Given the description of an element on the screen output the (x, y) to click on. 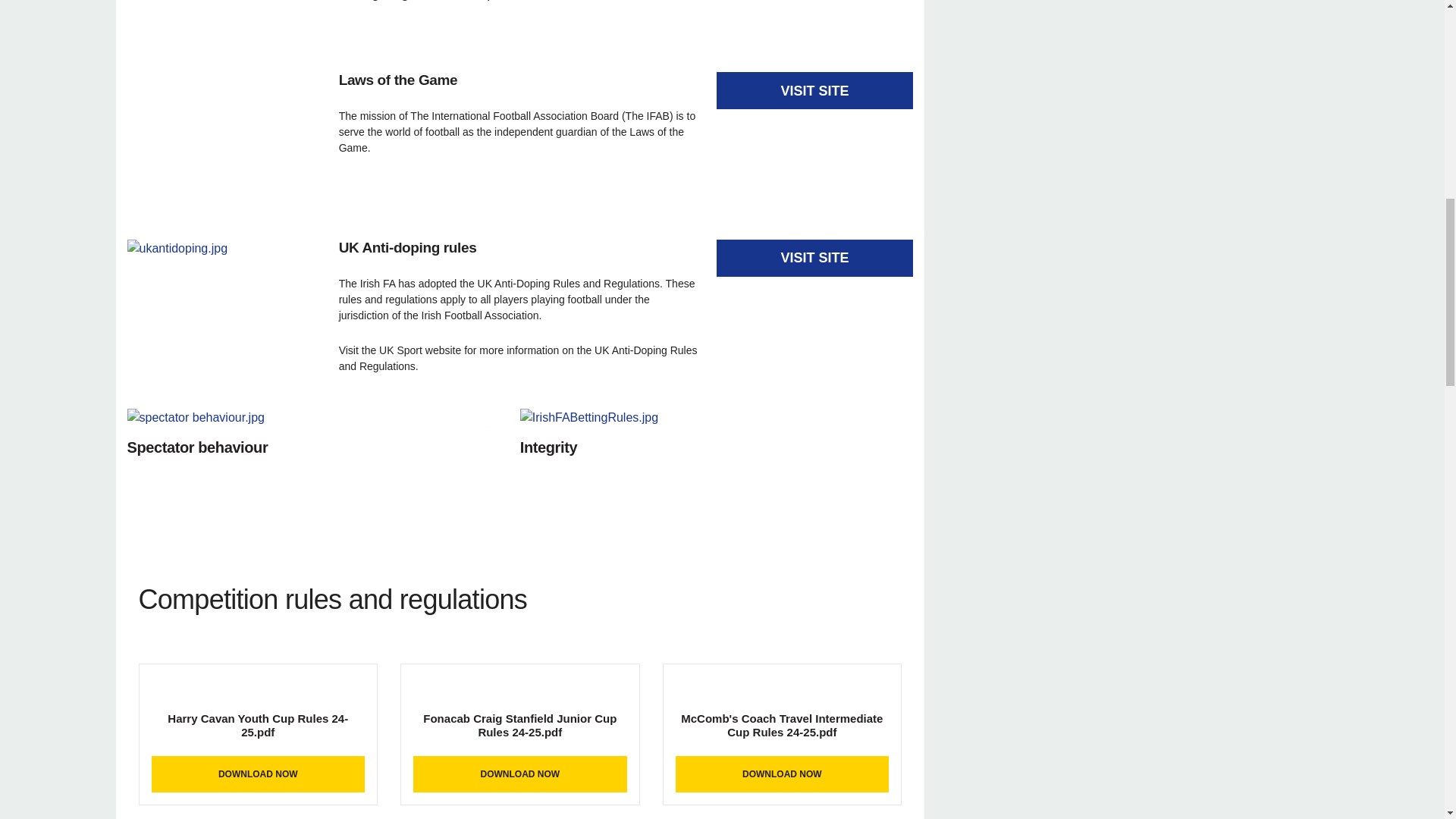
harry-cavan-youth-cup-rules-24-25pdf (258, 715)
fonacab-craig-stanfield-junior-cup-rules-24-25pdf (520, 715)
mccombs-coach-travel-intermediate-cup-rules-24-25pdf (782, 715)
